Given the description of an element on the screen output the (x, y) to click on. 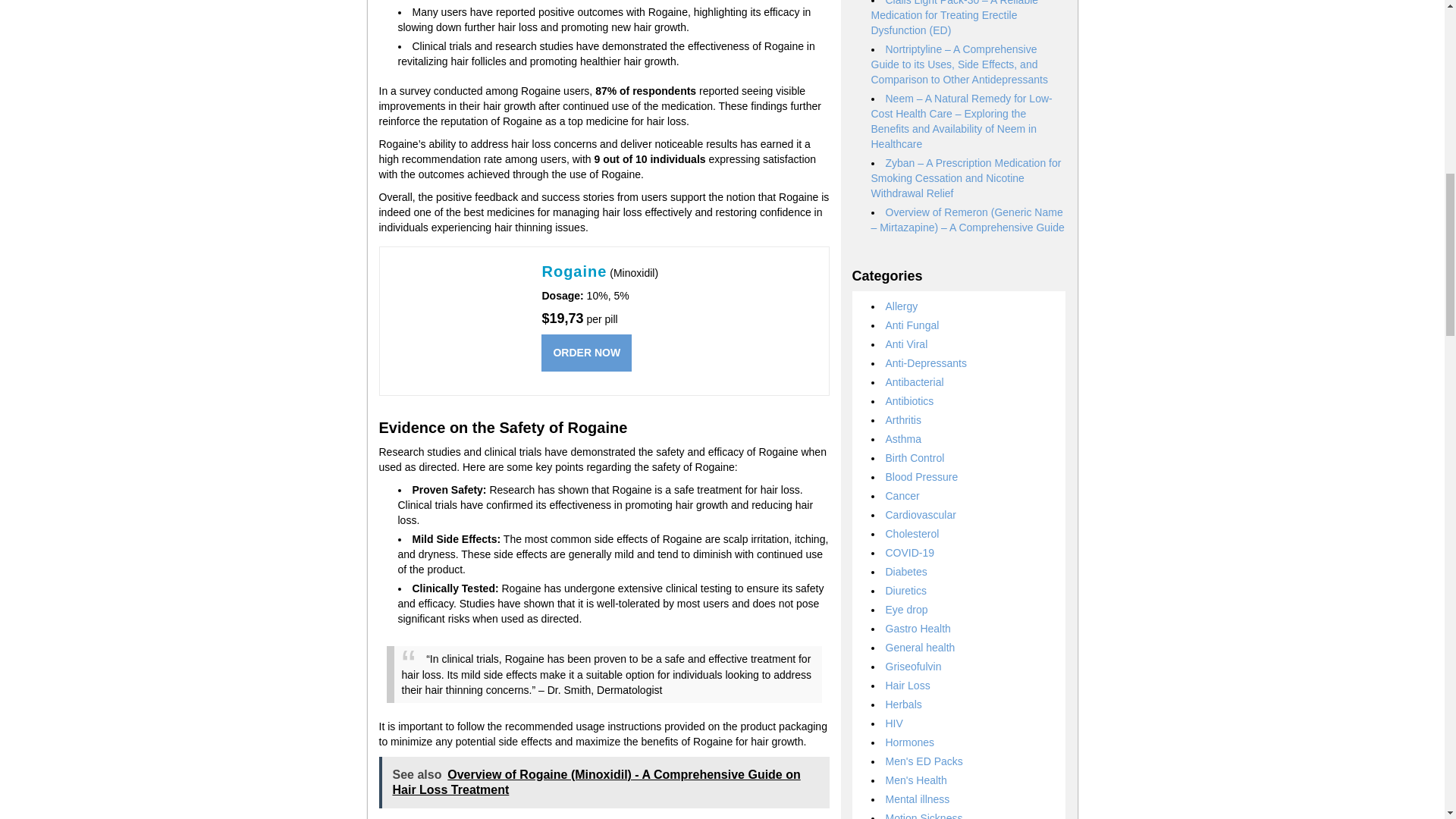
Anti-Depressants (925, 363)
Anti Viral (906, 344)
ORDER NOW (586, 352)
Birth Control (914, 458)
Allergy (901, 306)
Anti Fungal (912, 325)
Antibiotics (909, 400)
Arthritis (903, 419)
Blood Pressure (921, 476)
COVID-19 (909, 552)
